Given the description of an element on the screen output the (x, y) to click on. 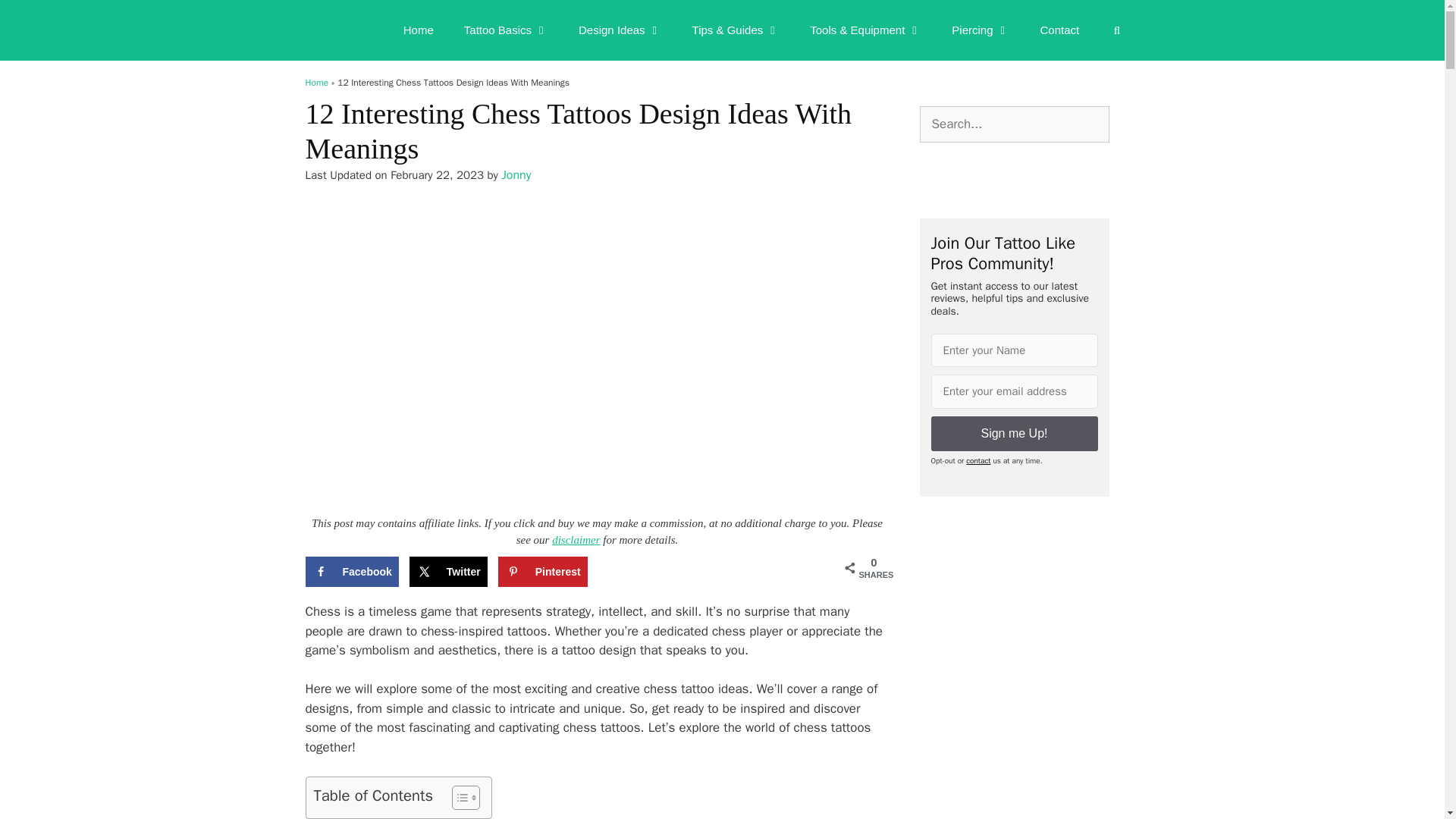
Tattoo Basics (505, 30)
Save to Pinterest (542, 571)
Share on Facebook (350, 571)
Share on X (448, 571)
Design Ideas (620, 30)
Home (418, 30)
Tattoo Like The Pros (335, 30)
